Given the description of an element on the screen output the (x, y) to click on. 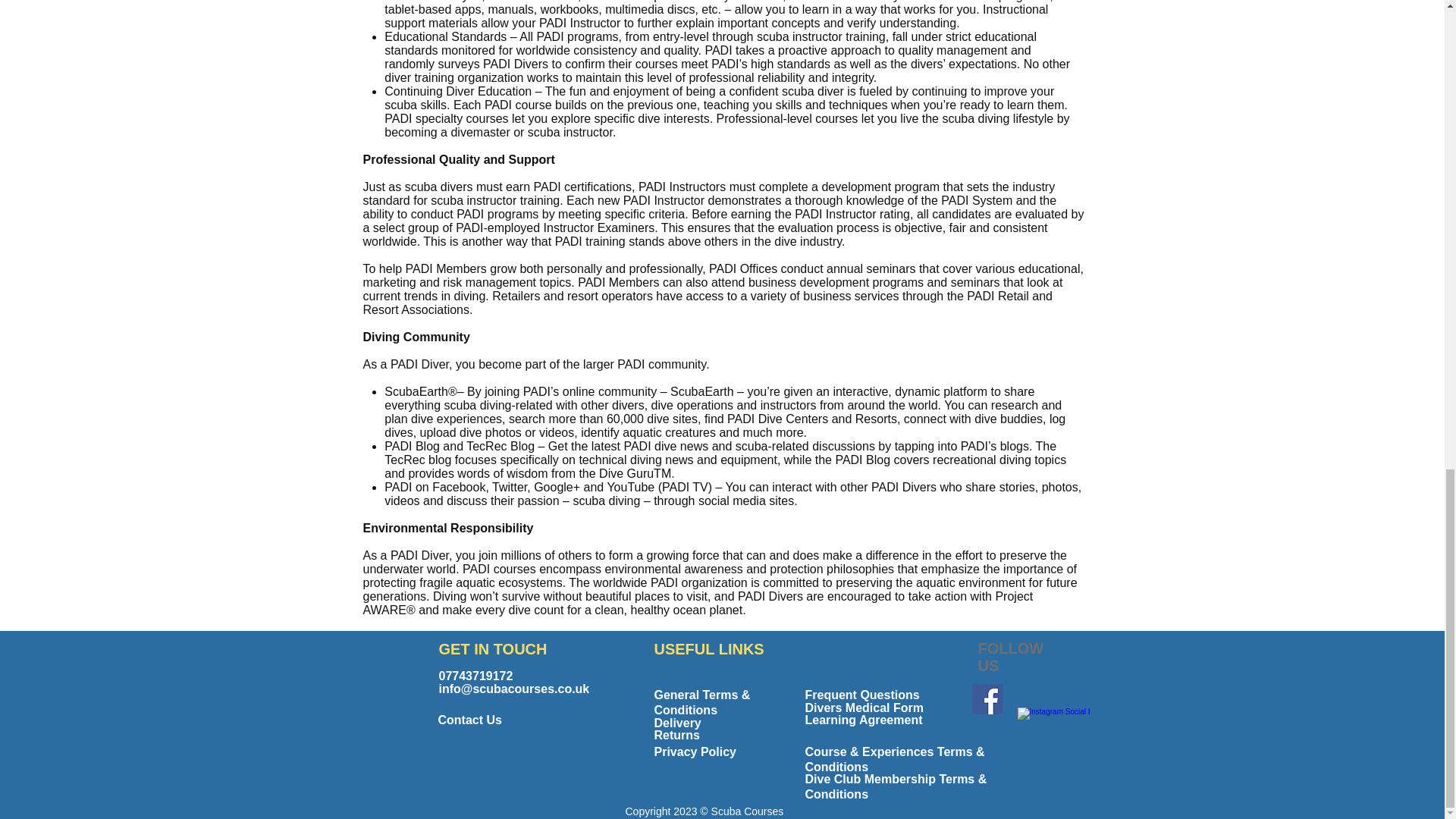
Delivery (676, 722)
Twitter (509, 486)
Facebook (458, 486)
TecRec Blog (499, 445)
PADI Blog (411, 445)
